Given the description of an element on the screen output the (x, y) to click on. 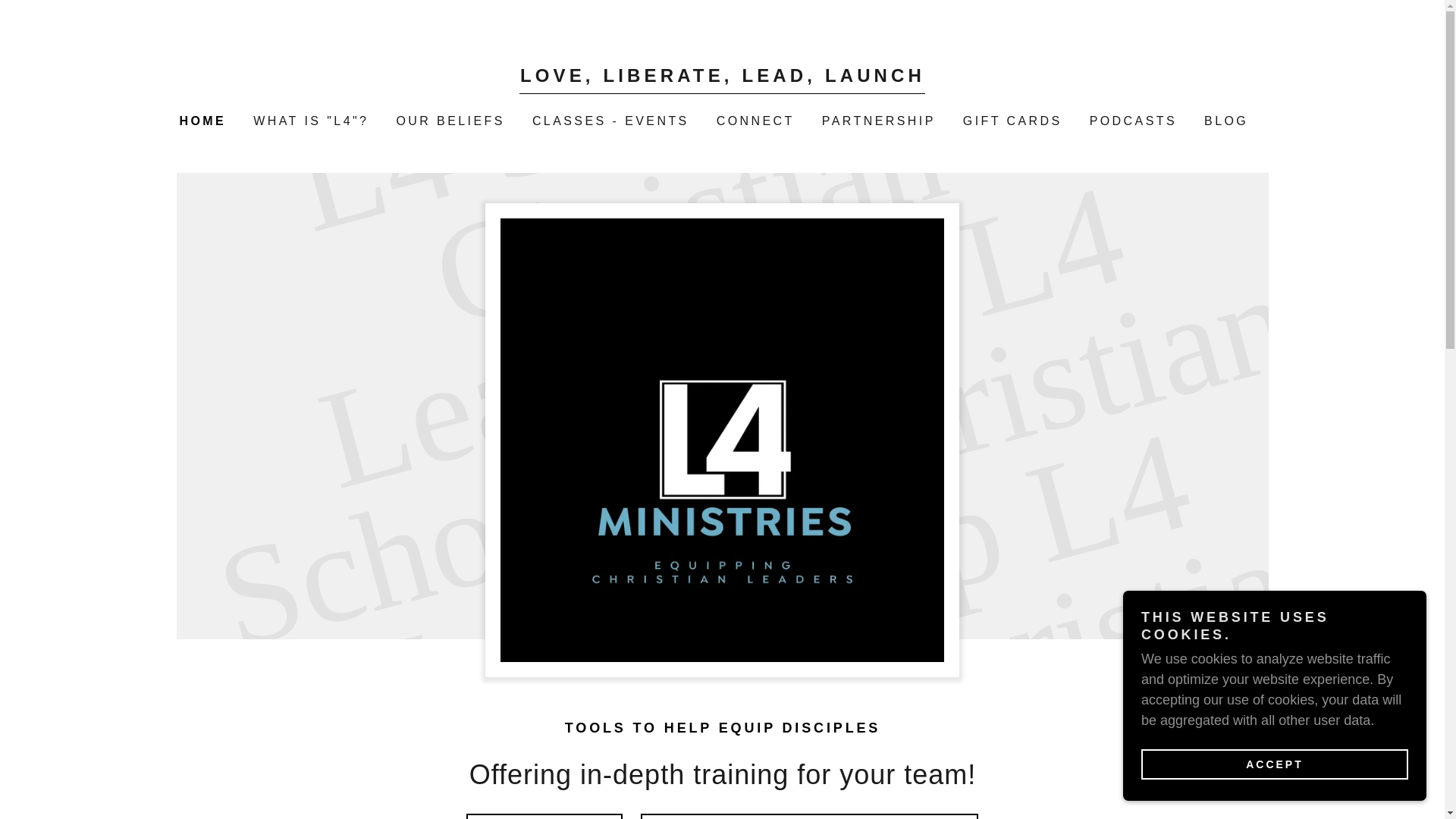
BLOG (1224, 121)
WHAT IS "L4"? (309, 121)
PARTNERSHIP (876, 121)
LOVE, LIBERATE, LEAD, LAUNCH (721, 77)
OUR BELIEFS (448, 121)
PODCASTS (1130, 121)
HOME (200, 121)
GIFT CARDS (1011, 121)
CLASSES - EVENTS (609, 121)
CONNECT (754, 121)
Love, Liberate, Lead, Launch (721, 77)
